Given the description of an element on the screen output the (x, y) to click on. 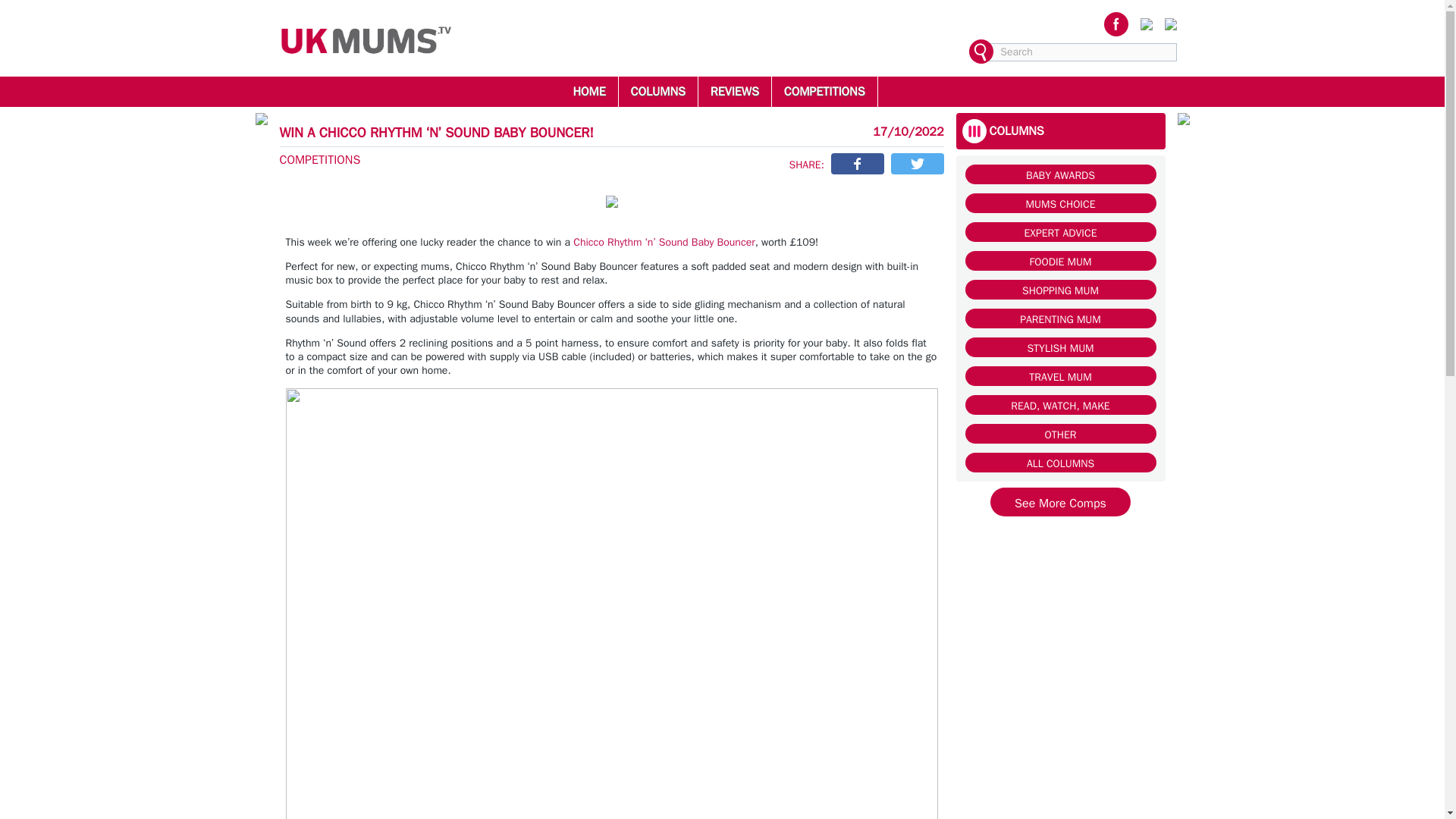
COLUMNS (657, 91)
COMPETITIONS (319, 160)
HOME (588, 91)
REVIEWS (734, 91)
BABY AWARDS (1059, 174)
FOODIE MUM (1059, 260)
COMPETITIONS (824, 91)
MUMS CHOICE (1059, 202)
EXPERT ADVICE (1059, 231)
